Given the description of an element on the screen output the (x, y) to click on. 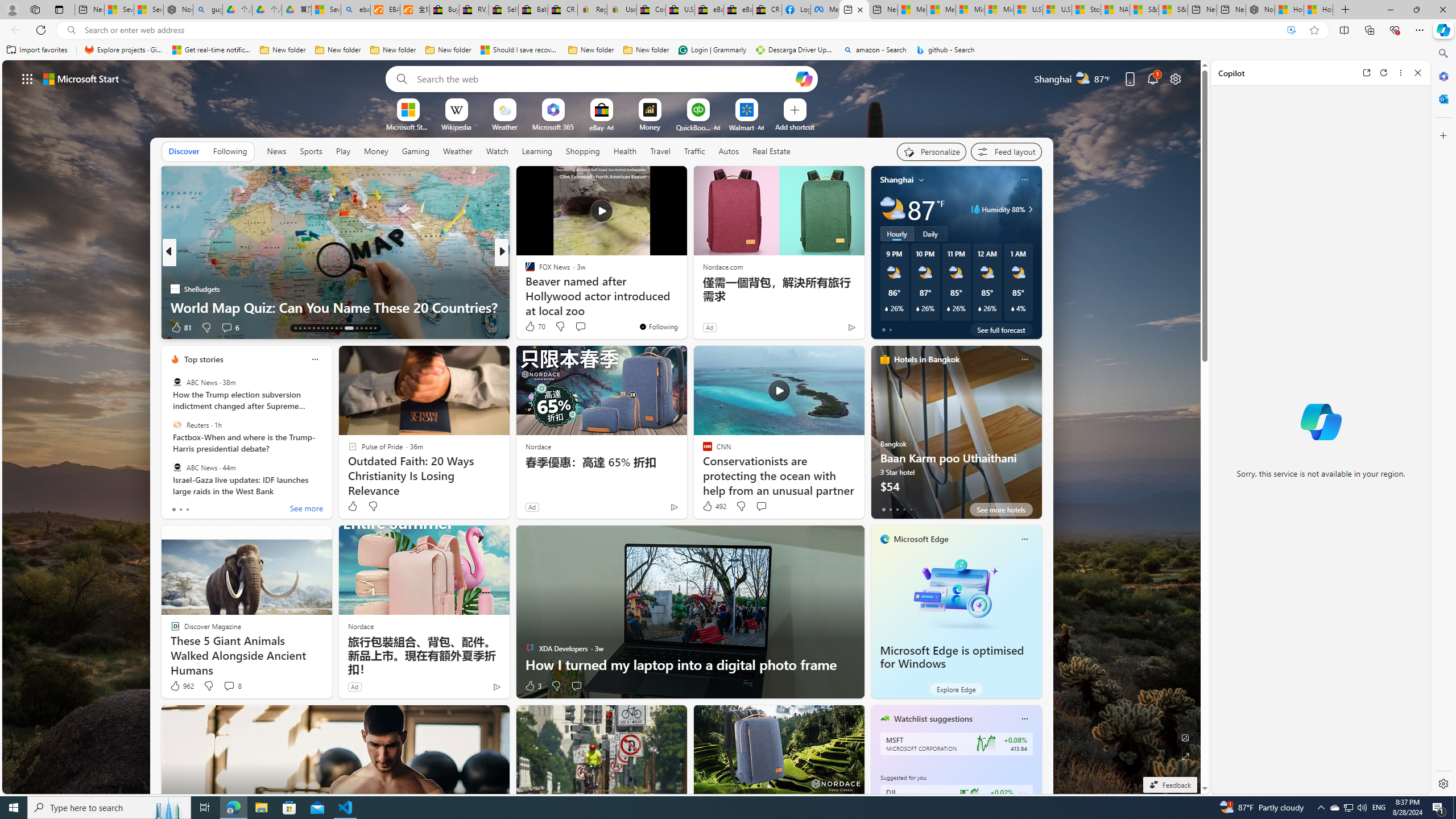
3 Like (532, 685)
Watch (497, 151)
See more (672, 179)
Open link in new tab (1366, 72)
Play (342, 151)
AutomationID: tab-24 (349, 328)
View comments 24 Comment (585, 327)
315 Like (532, 327)
New Tab (1346, 9)
Learning (537, 151)
191 Like (532, 327)
Real Wild (524, 288)
Weather (457, 151)
